Given the description of an element on the screen output the (x, y) to click on. 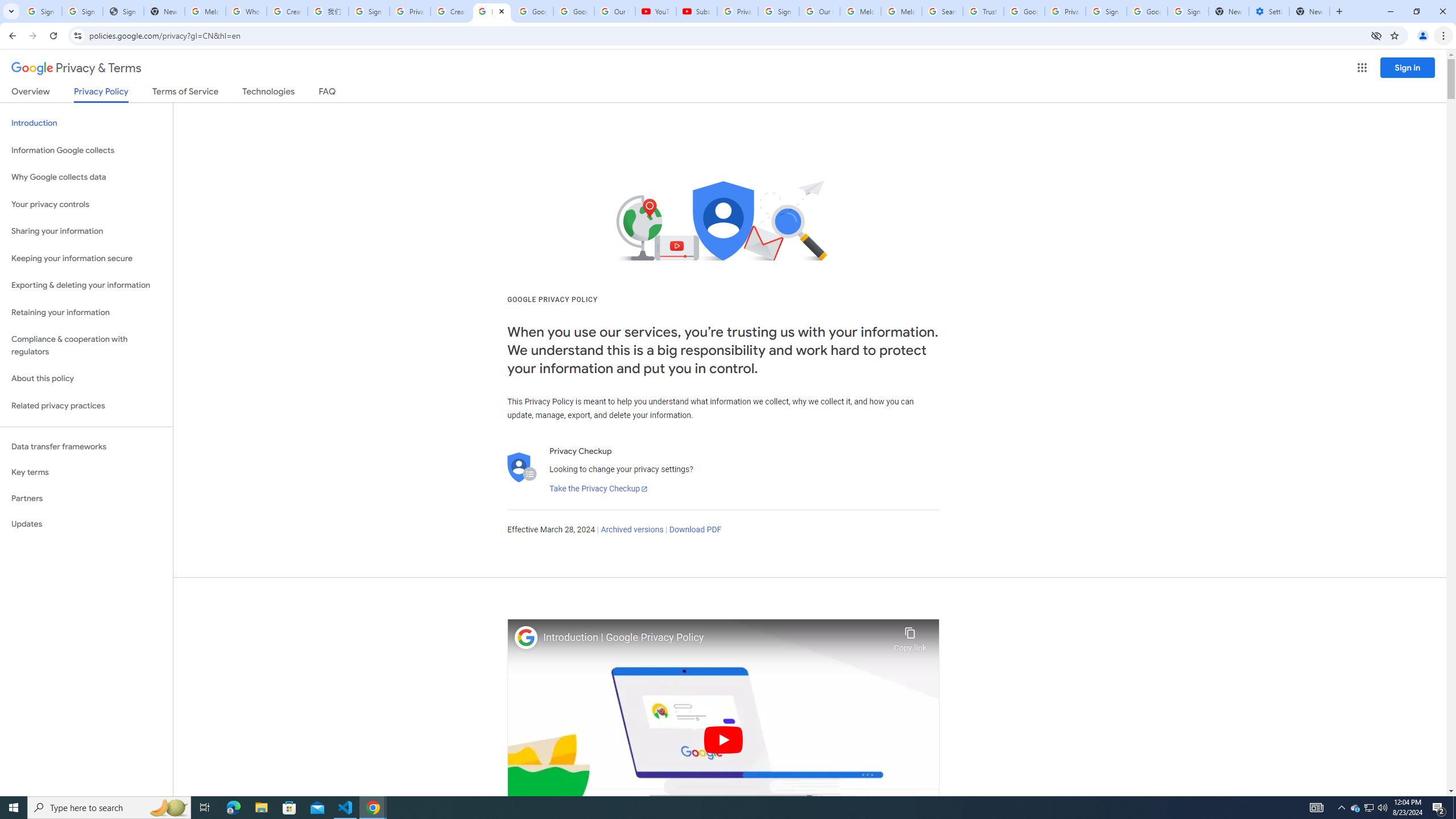
Your privacy controls (86, 204)
